Given the description of an element on the screen output the (x, y) to click on. 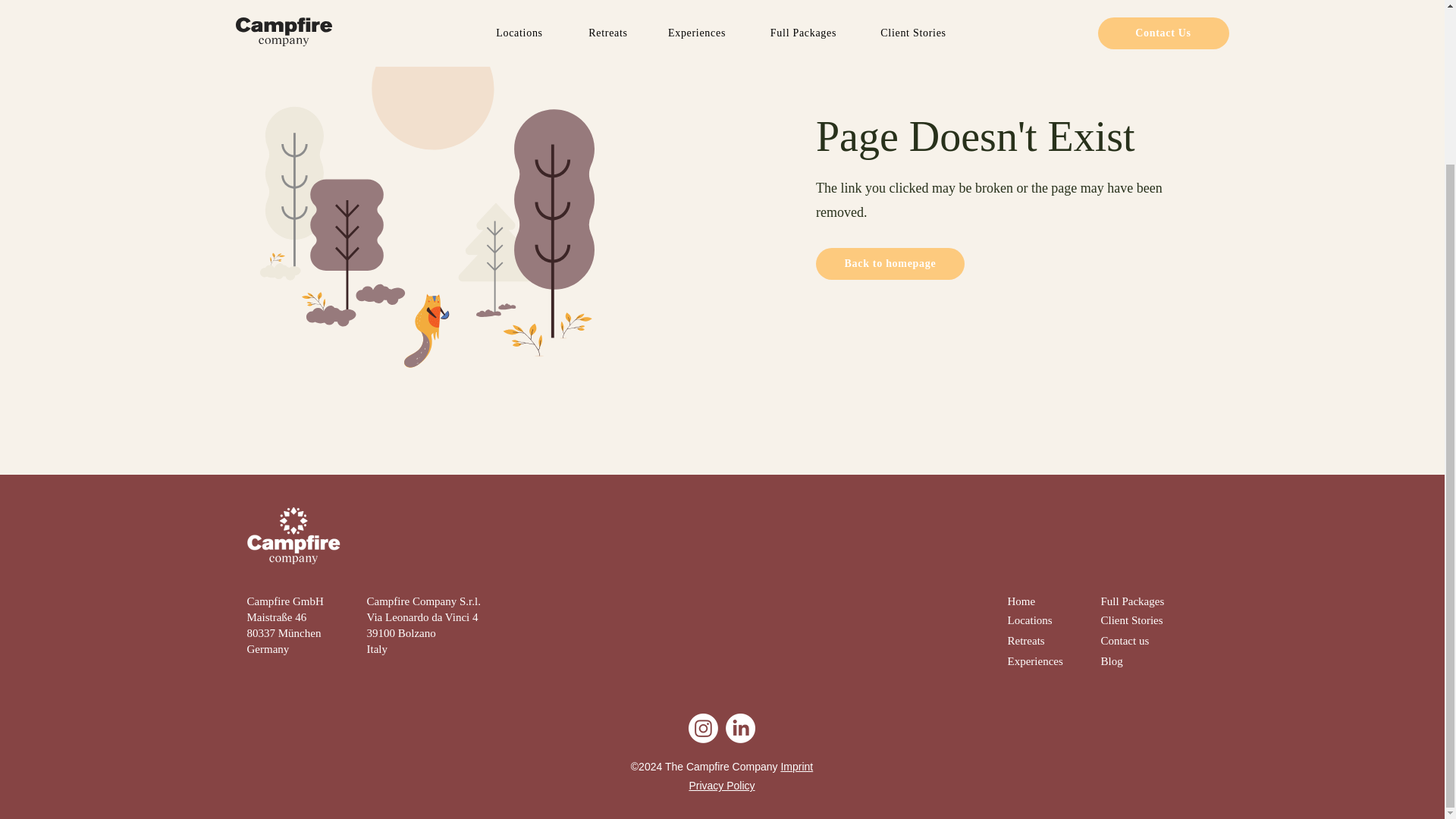
Contact us (1125, 640)
Client Stories (1131, 620)
Back to homepage (889, 264)
Privacy Policy (721, 785)
Home (1021, 601)
Imprint (796, 766)
Locations (1029, 620)
Blog (1111, 661)
Experiences (1034, 661)
Retreats (1025, 640)
